Given the description of an element on the screen output the (x, y) to click on. 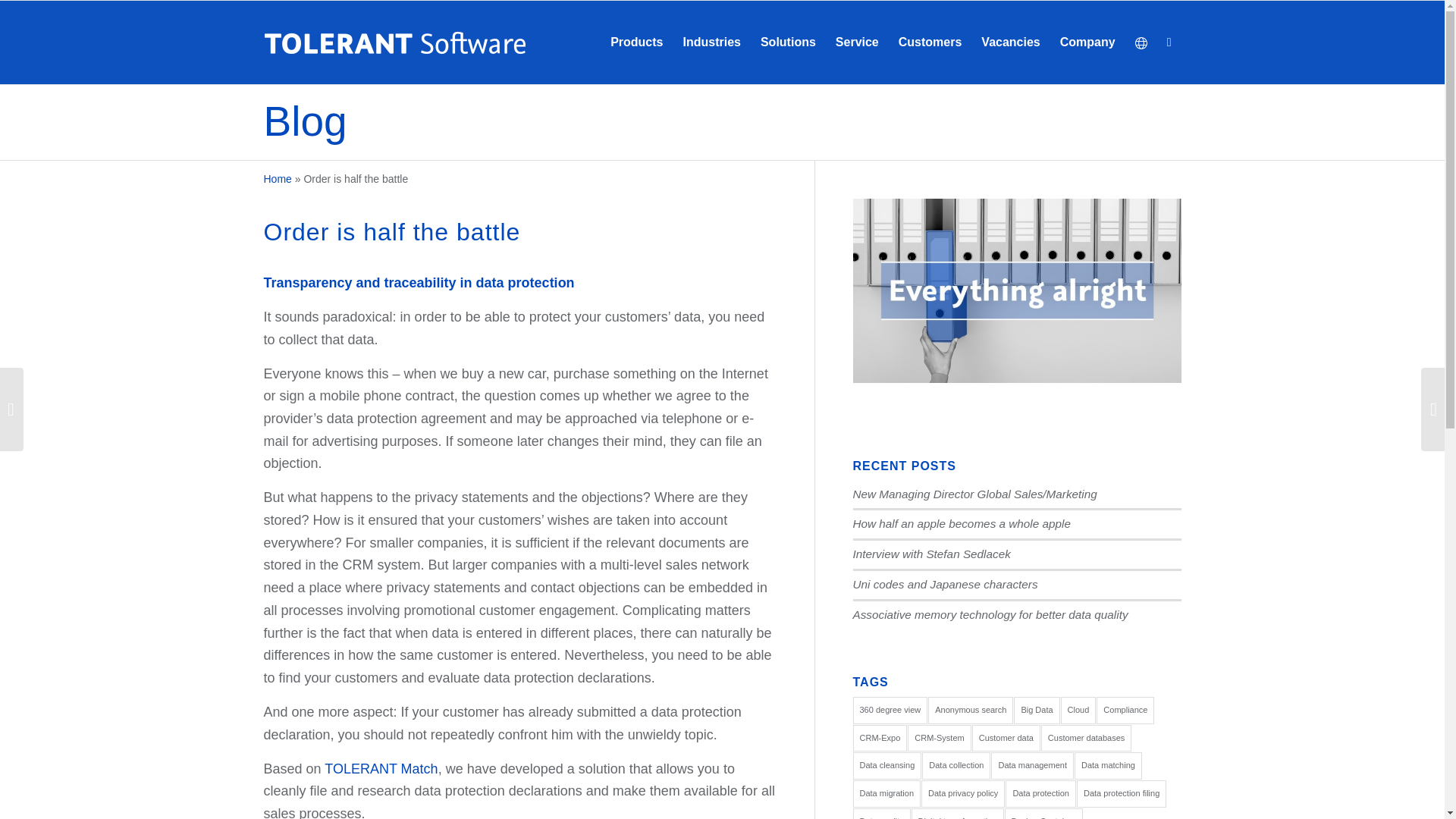
tolerant-software-logo-h60 (394, 42)
tolerant-software-logo-h60 (394, 42)
Solutions (788, 42)
Industries (710, 42)
